Given the description of an element on the screen output the (x, y) to click on. 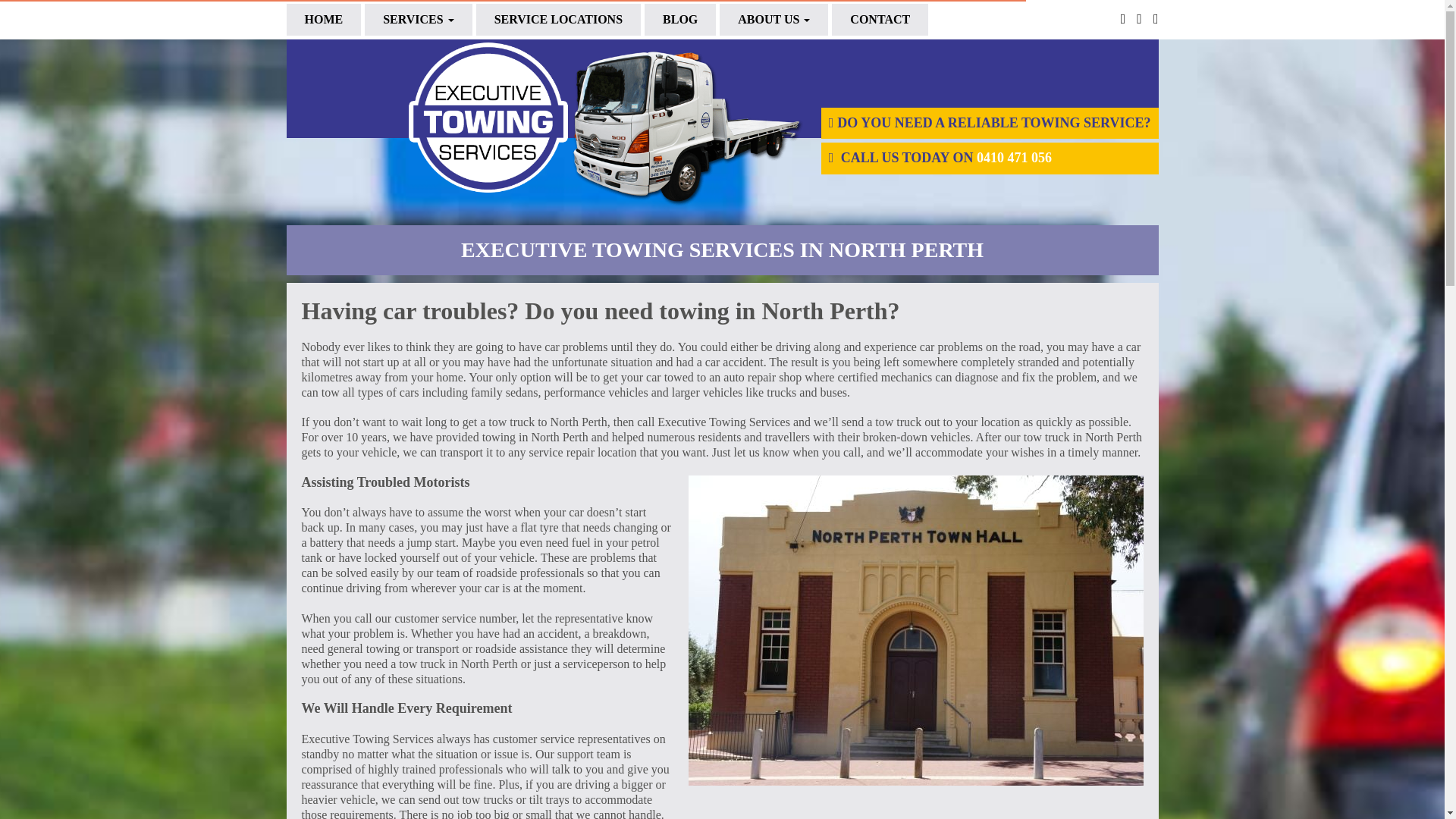
HOME (323, 20)
CONTACT (879, 20)
SERVICES (418, 20)
0410 471 056 (1013, 157)
SERVICE LOCATIONS (558, 20)
ABOUT US (773, 20)
BLOG (680, 20)
